Given the description of an element on the screen output the (x, y) to click on. 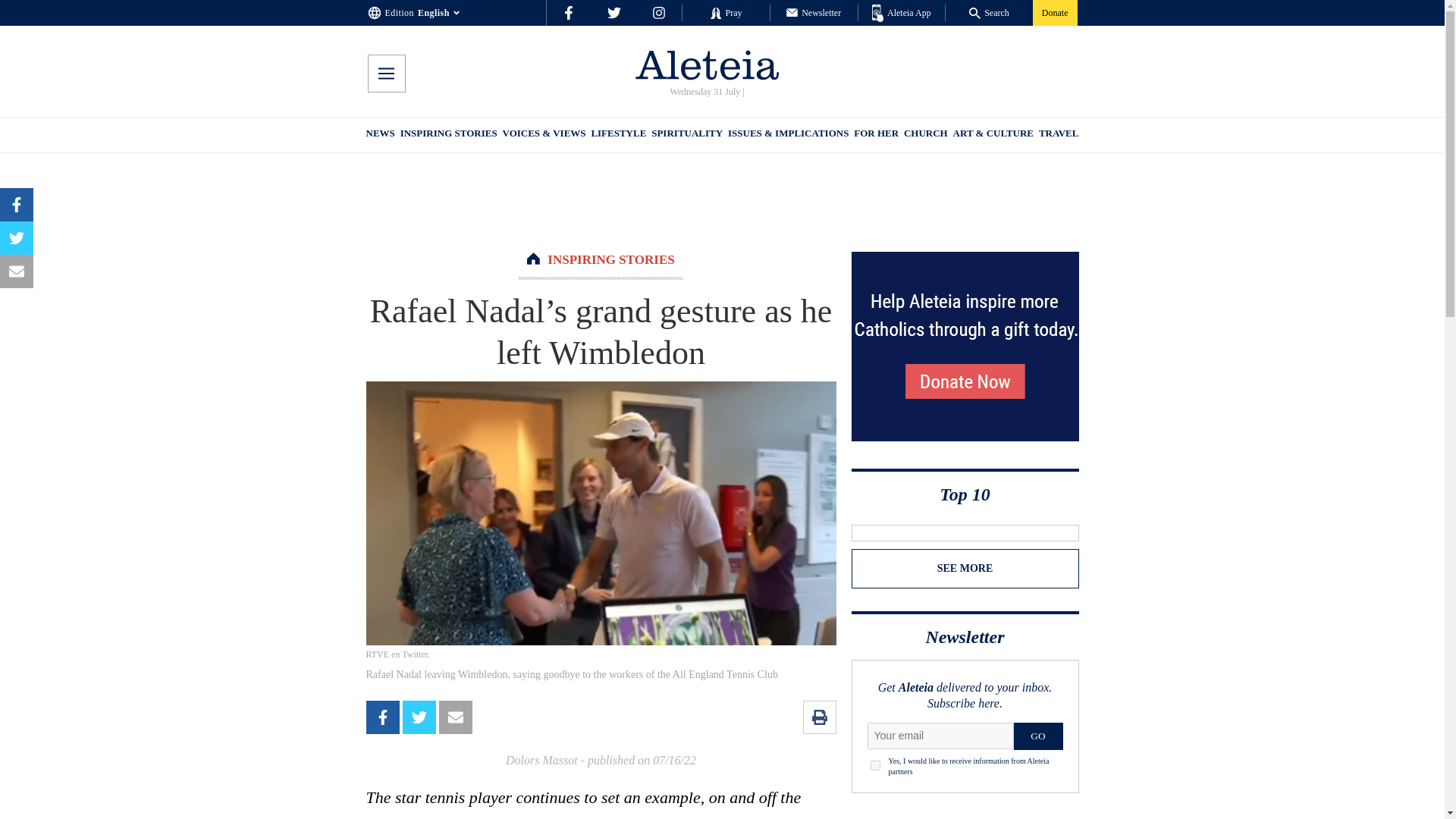
SPIRITUALITY (686, 134)
Donate (1054, 12)
Aleteia App (901, 13)
TRAVEL (1058, 134)
INSPIRING STORIES (610, 259)
FOR HER (875, 134)
Search (989, 12)
1 (875, 765)
INSPIRING STORIES (448, 134)
CHURCH (925, 134)
Pray (725, 12)
LIFESTYLE (618, 134)
Newsletter (813, 12)
